Given the description of an element on the screen output the (x, y) to click on. 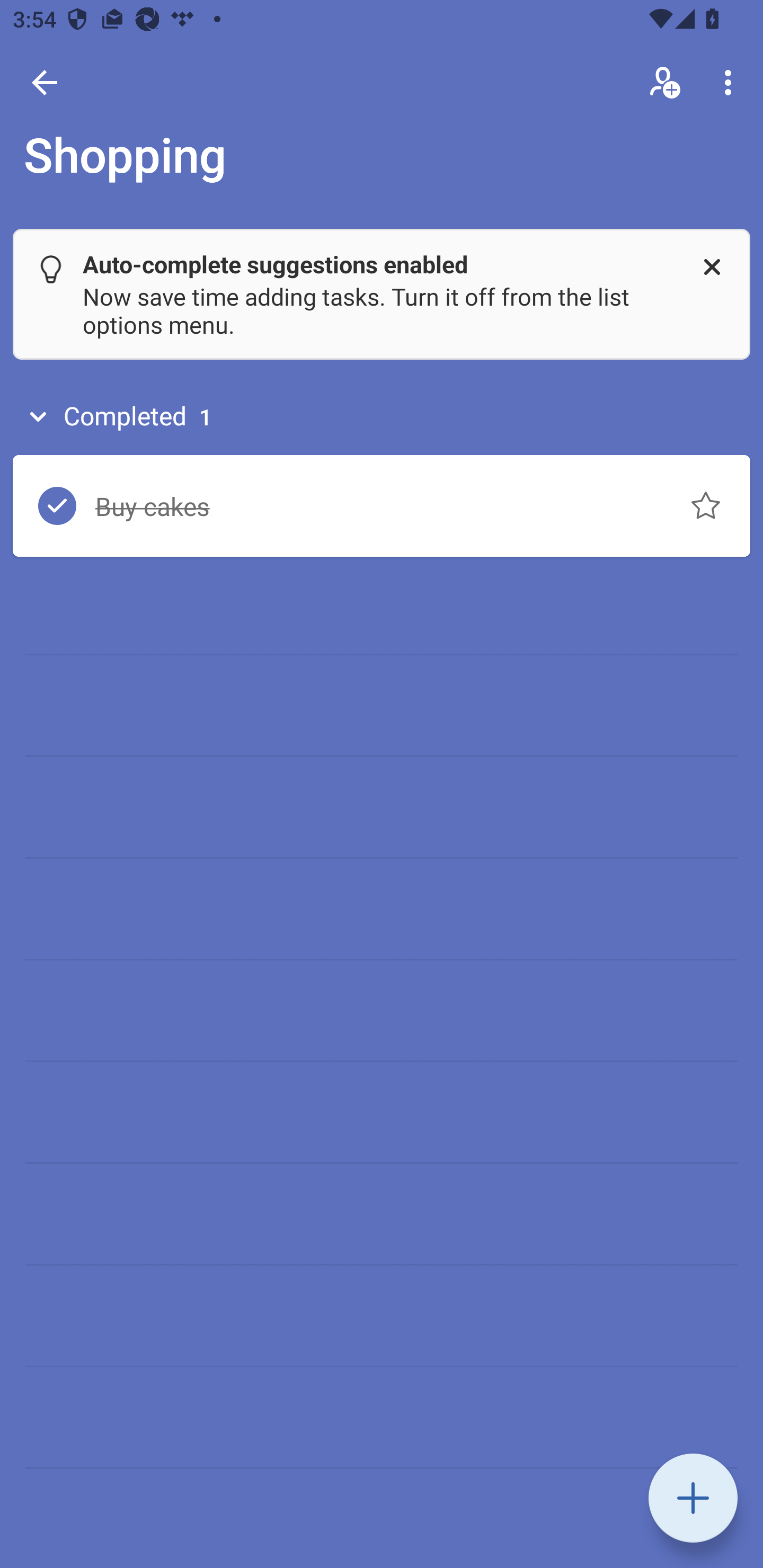
More options (731, 81)
